Given the description of an element on the screen output the (x, y) to click on. 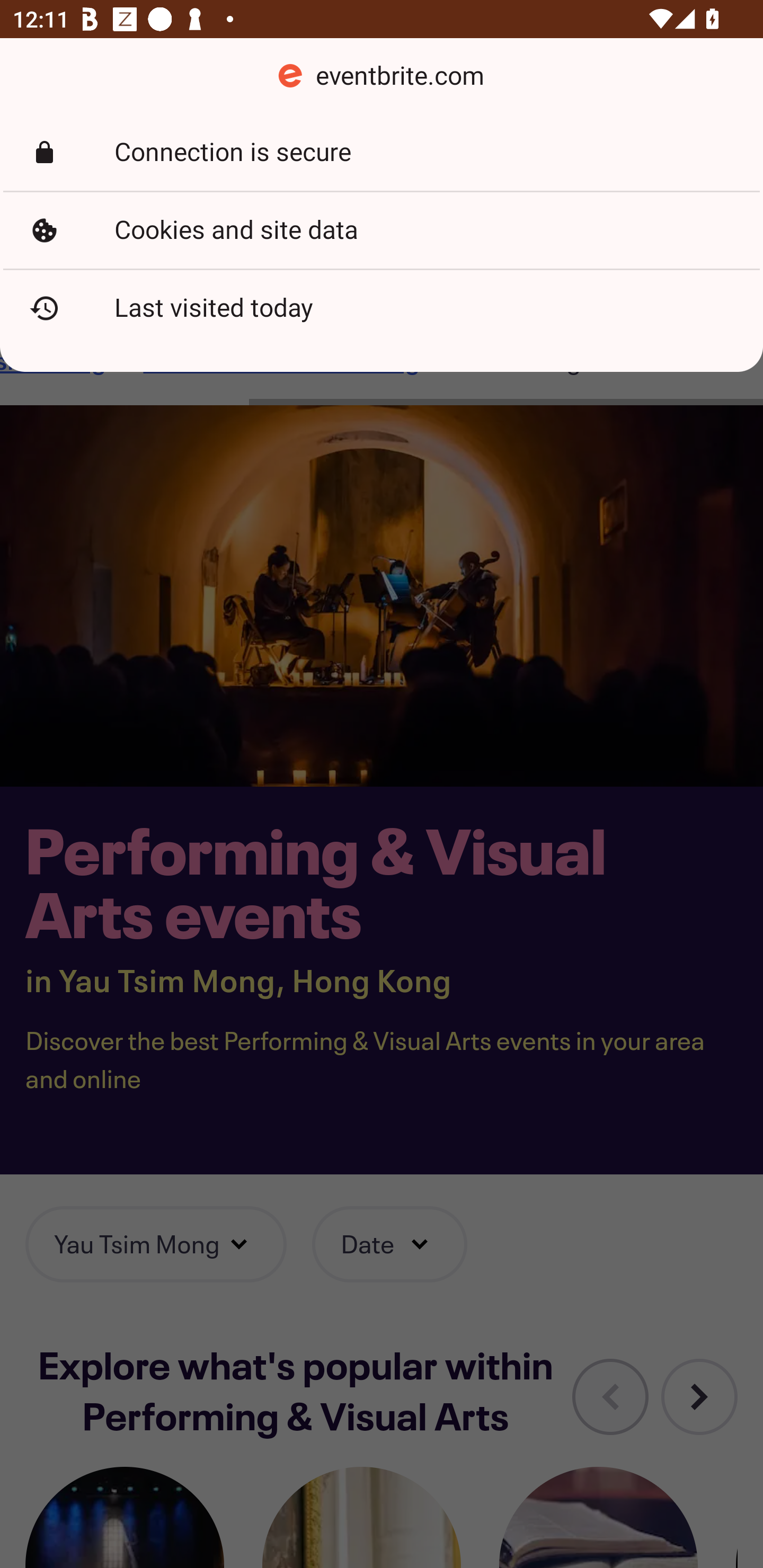
eventbrite.com (381, 75)
Connection is secure (381, 152)
Cookies and site data (381, 230)
Last visited today (381, 307)
